Given the description of an element on the screen output the (x, y) to click on. 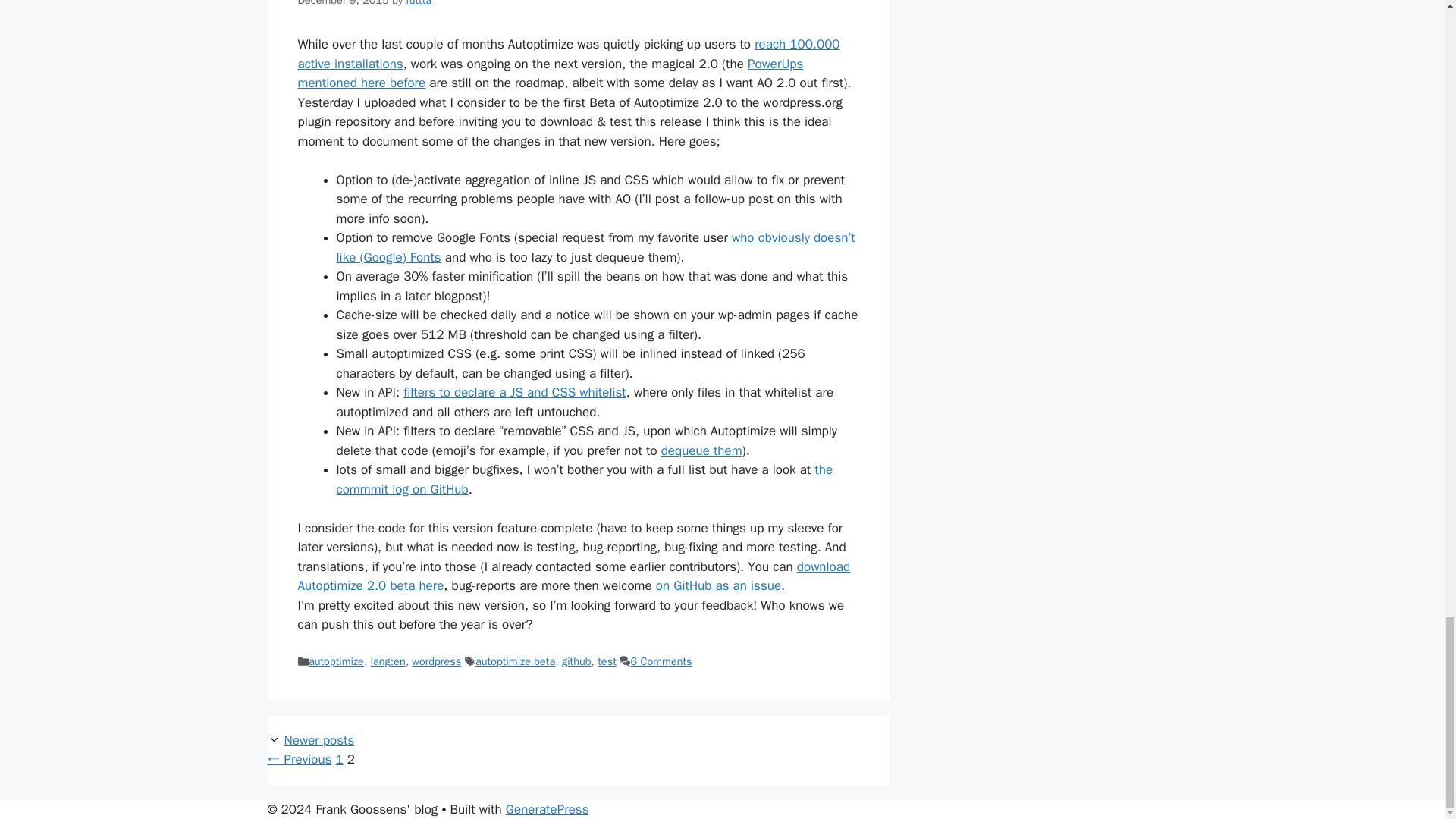
View all posts by futtta (418, 3)
Next (319, 740)
